Given the description of an element on the screen output the (x, y) to click on. 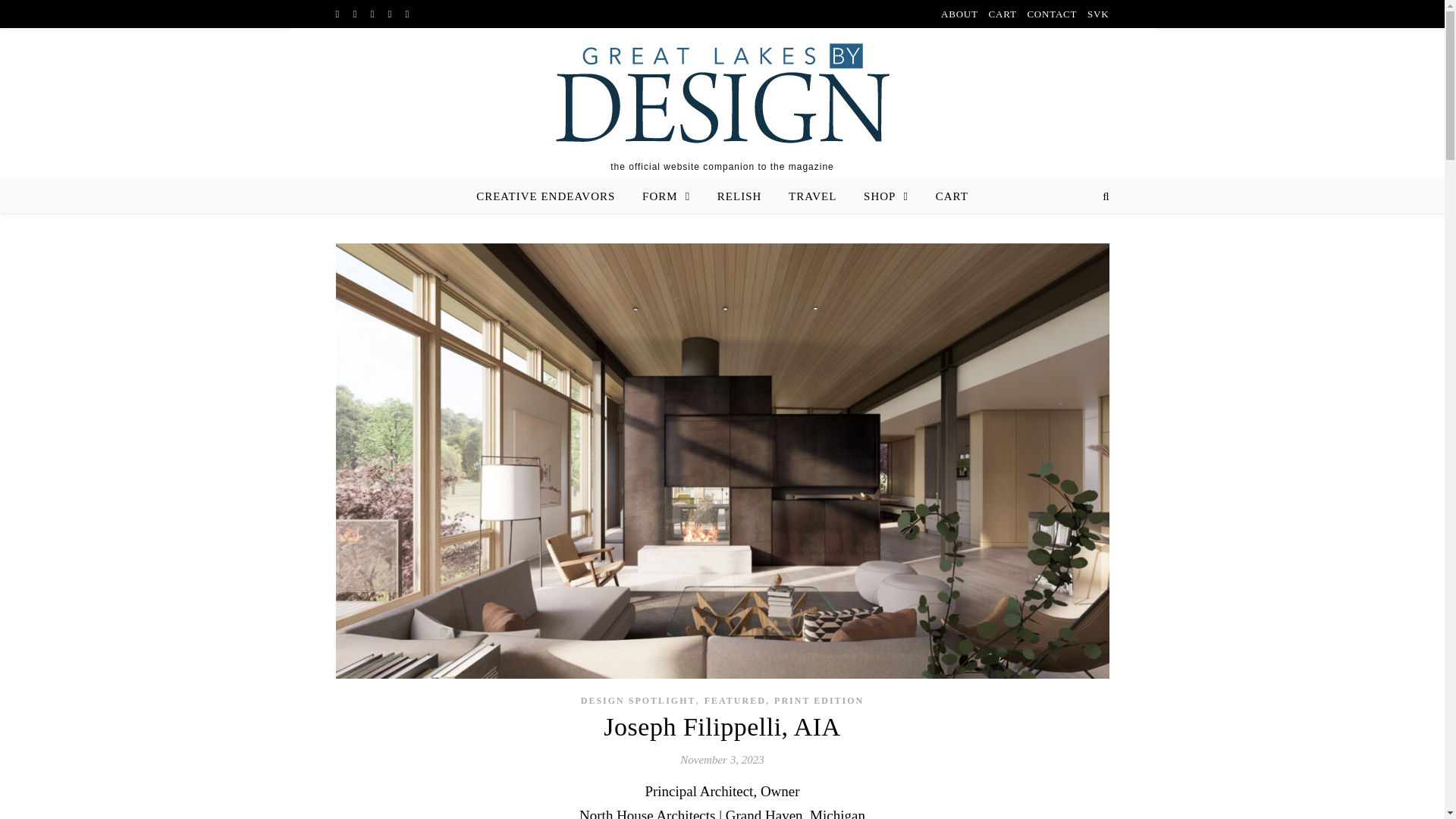
FORM (665, 195)
ABOUT (960, 13)
TRAVEL (812, 195)
CART (1002, 13)
CREATIVE ENDEAVORS (551, 195)
CONTACT (1051, 13)
SVK (1095, 13)
SHOP (885, 195)
RELISH (739, 195)
